Given the description of an element on the screen output the (x, y) to click on. 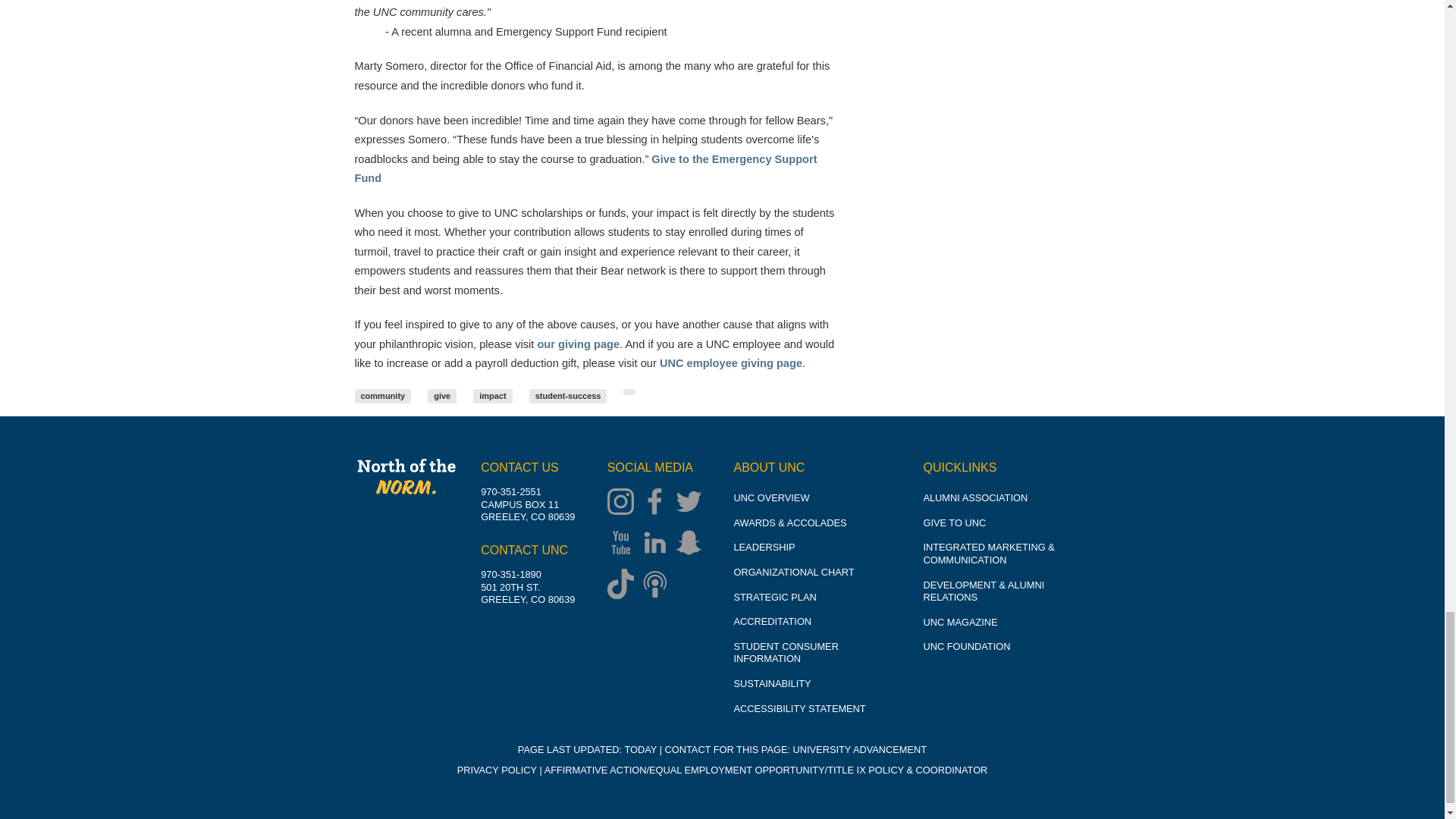
TikTok (624, 585)
LinkedIn (658, 544)
Facebook (658, 503)
YouTube (624, 544)
Instagram (624, 503)
Twitter (692, 503)
Bear in Mind Podcast (658, 585)
Snapchat (692, 544)
